Given the description of an element on the screen output the (x, y) to click on. 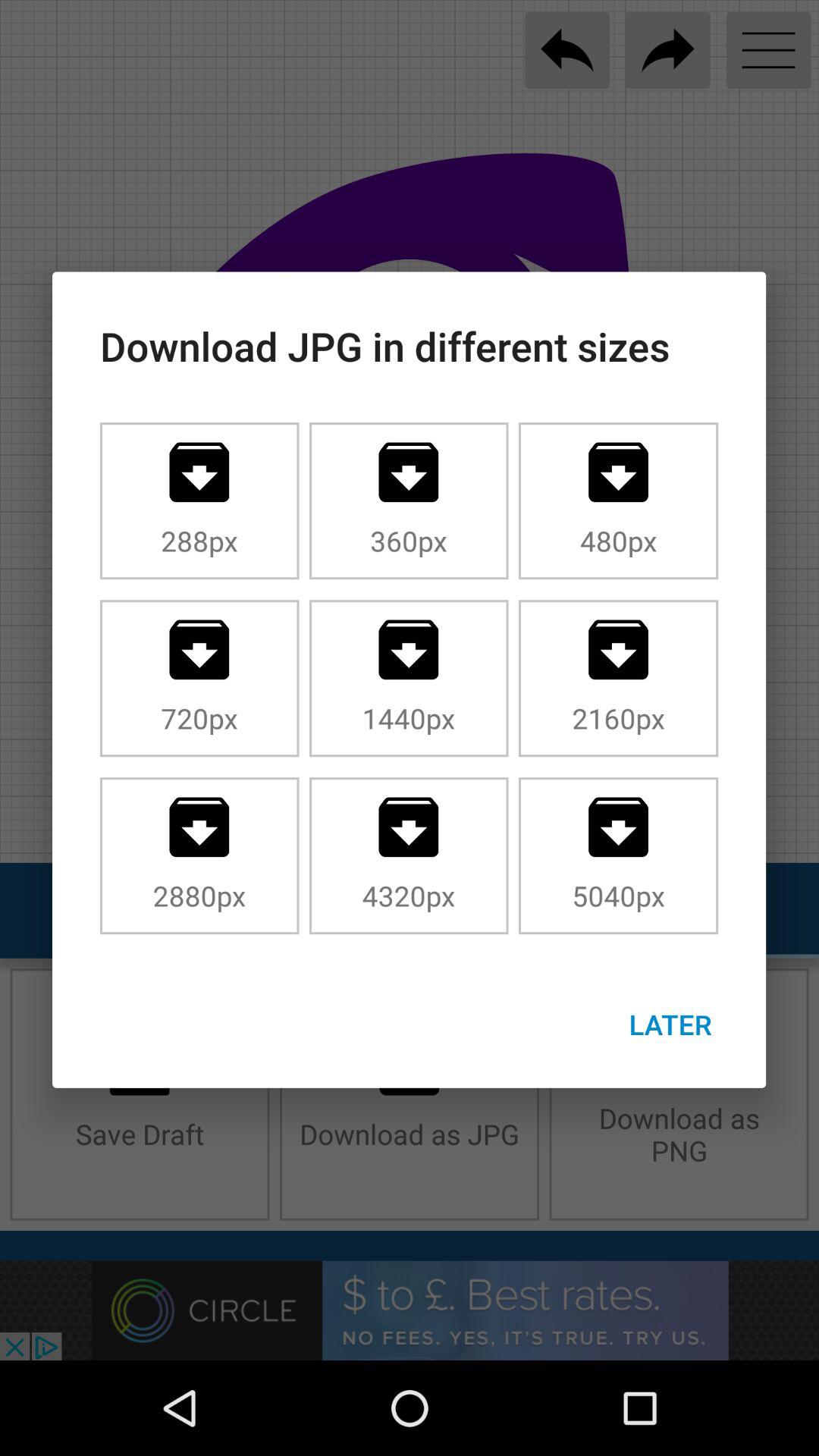
choose icon at the bottom right corner (670, 1024)
